Given the description of an element on the screen output the (x, y) to click on. 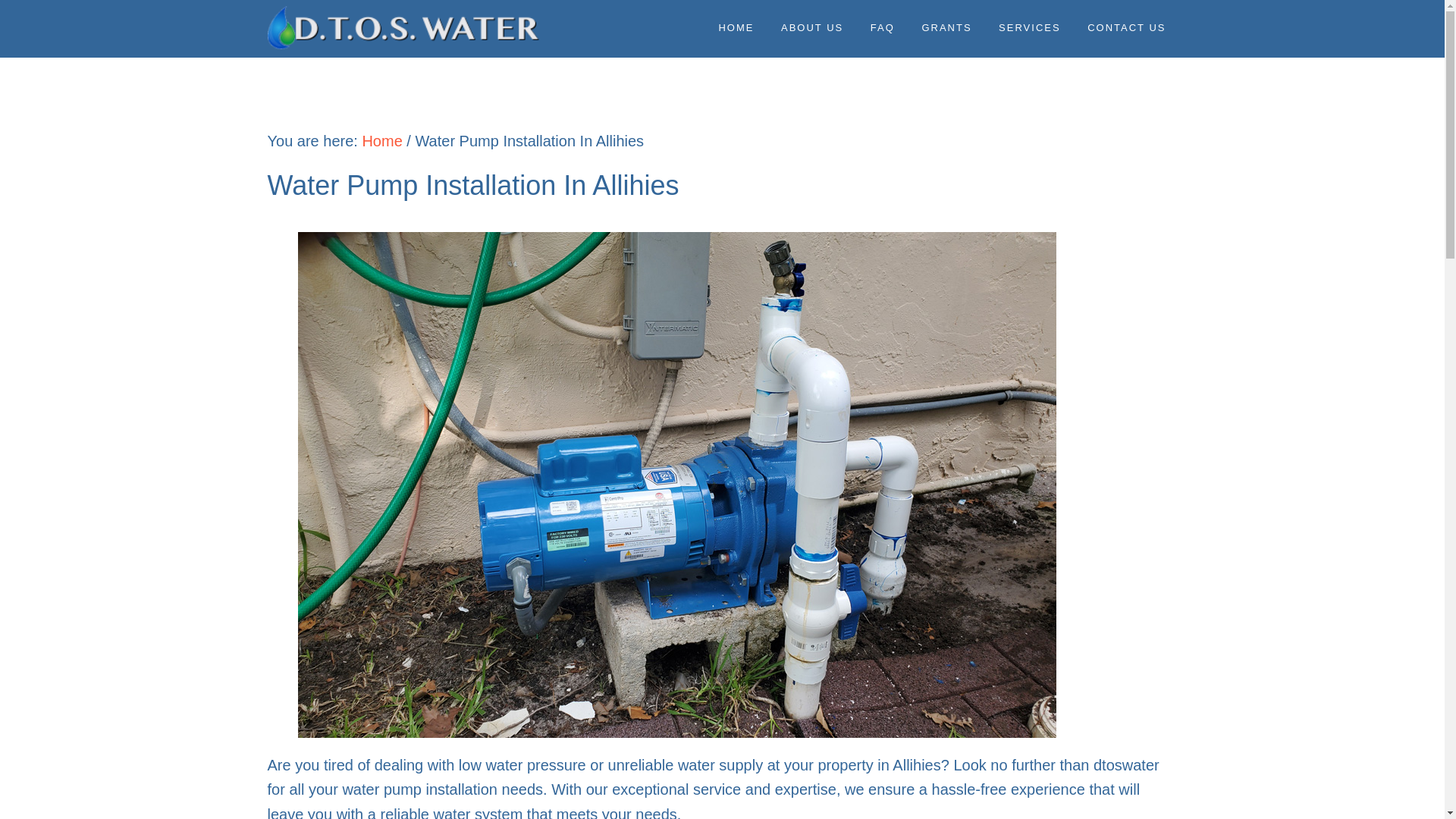
GRANTS (946, 27)
Home (381, 140)
ABOUT US (812, 27)
HOME (735, 27)
CONTACT US (1125, 27)
SERVICES (1029, 27)
